Given the description of an element on the screen output the (x, y) to click on. 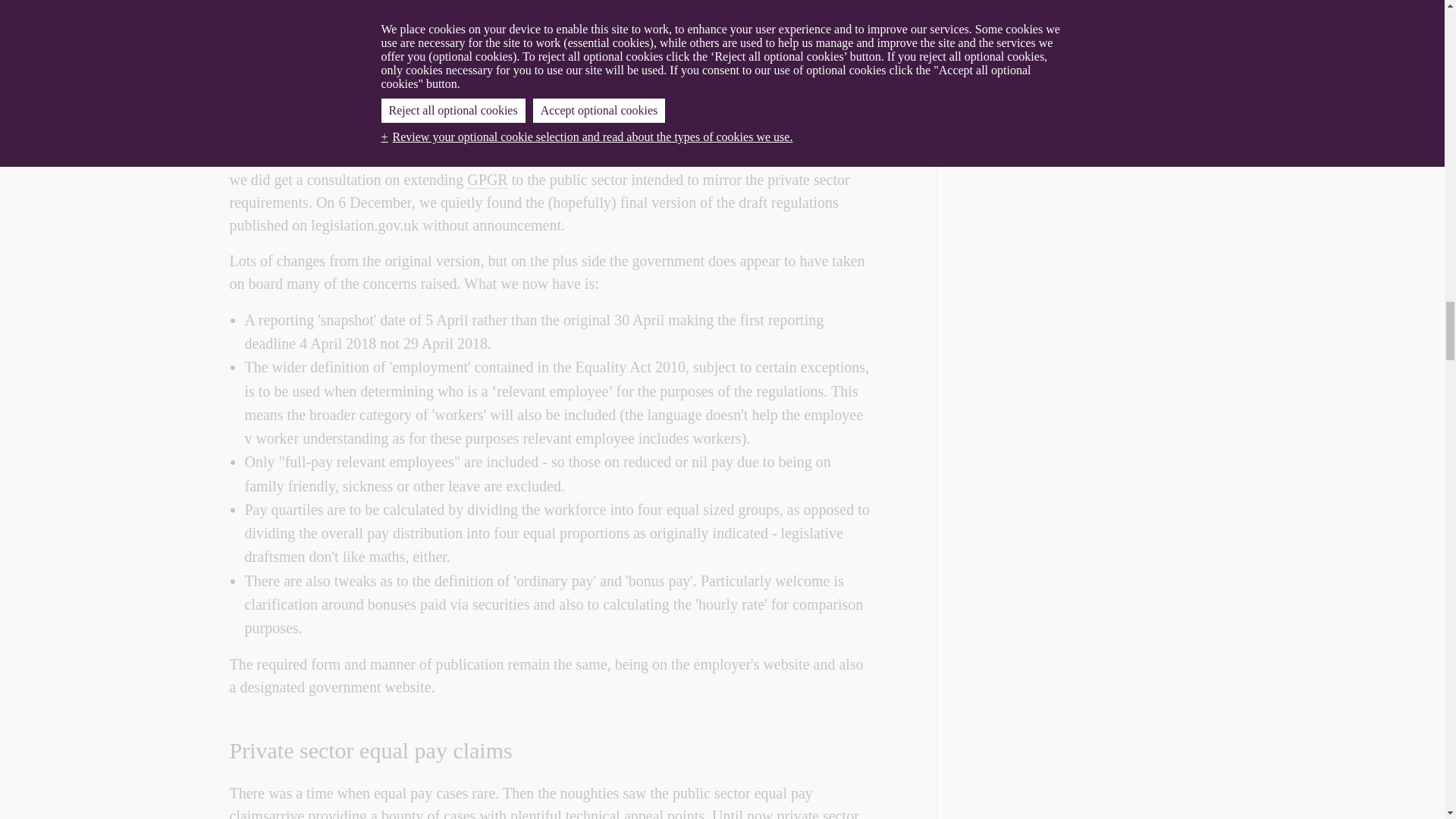
Gender Pay Gap Reporting (486, 180)
Gender Pay Gap Reporting (826, 16)
